Given the description of an element on the screen output the (x, y) to click on. 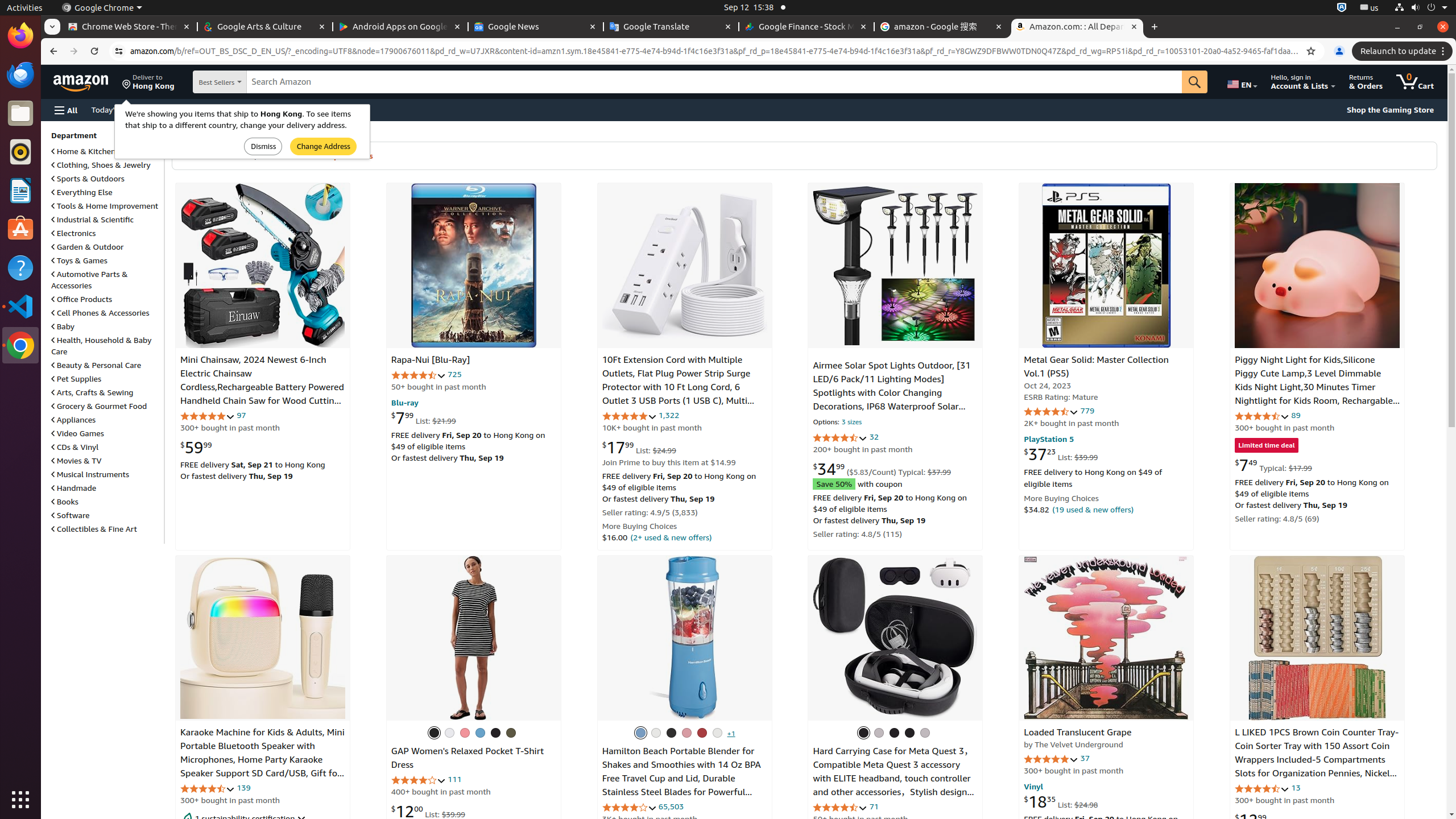
111 Element type: link (454, 778)
Android Apps on Google Play - Memory usage - 60.6 MB Element type: page-tab (400, 26)
4.1 out of 5 stars Element type: push-button (417, 780)
$18.35 List: $24.98 Element type: link (1060, 801)
Gift Cards Element type: link (290, 109)
